Given the description of an element on the screen output the (x, y) to click on. 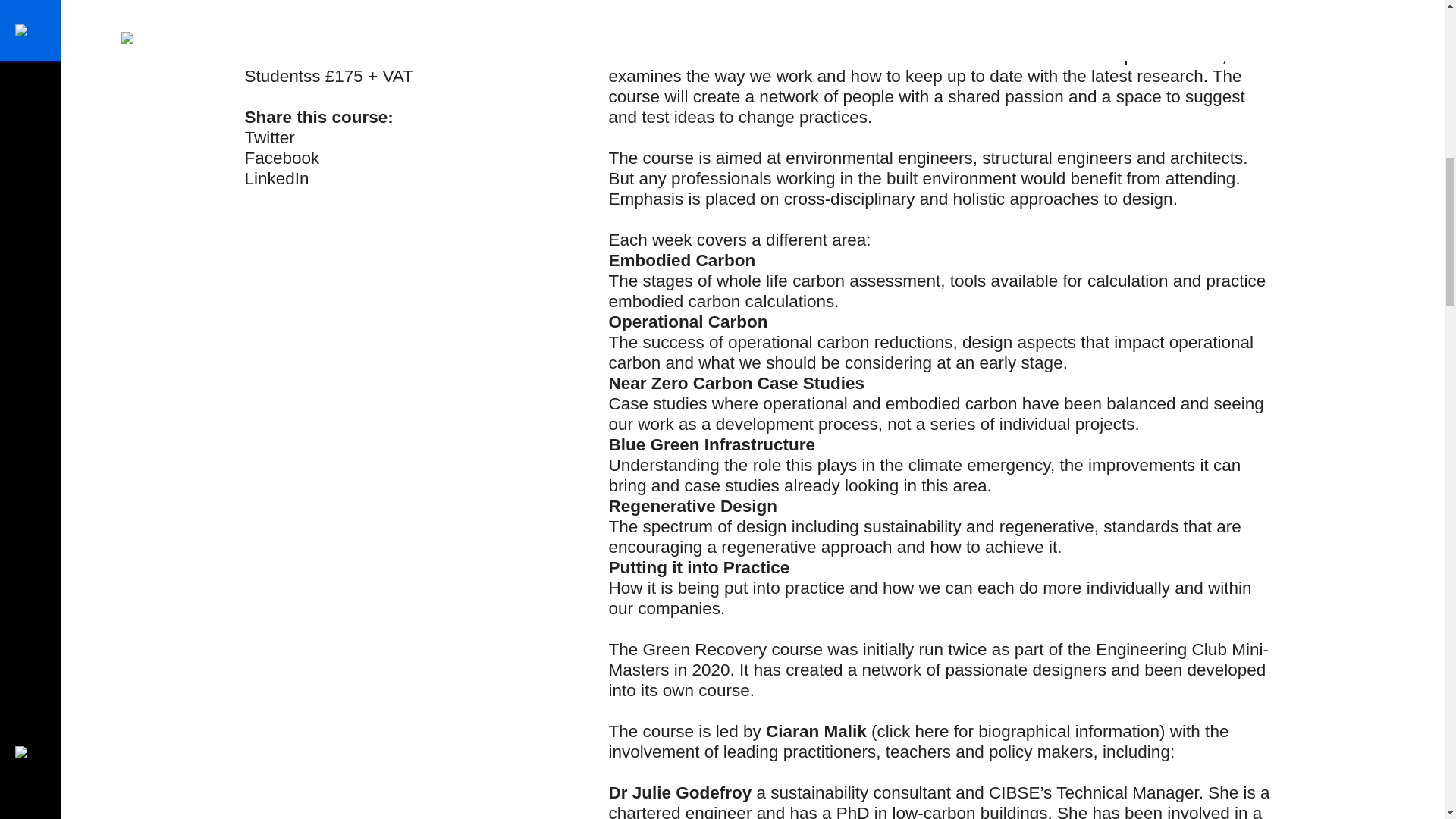
Facebook (281, 157)
LinkedIn (276, 178)
Twitter (269, 137)
